Given the description of an element on the screen output the (x, y) to click on. 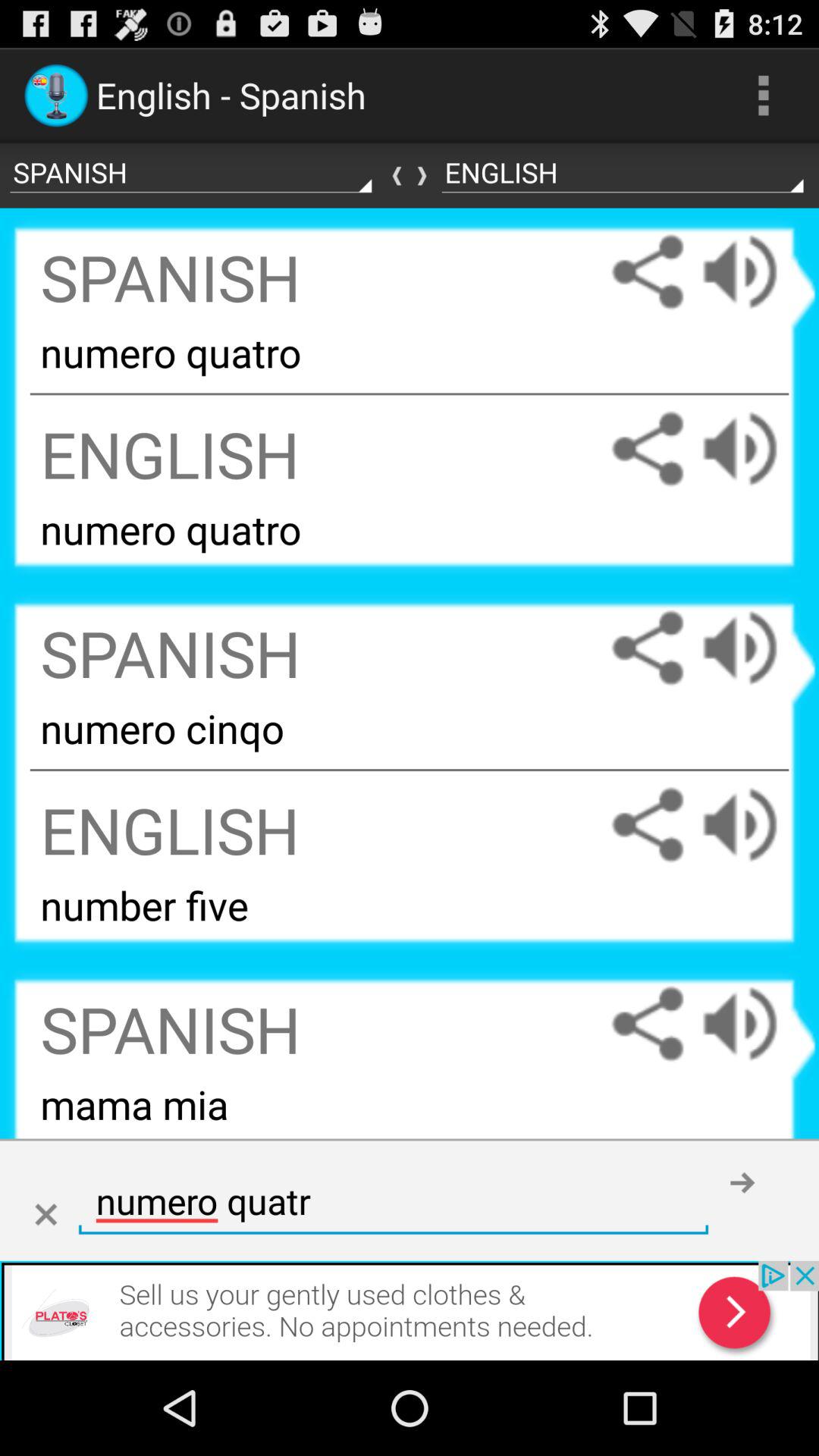
delete input field option (45, 1214)
